Given the description of an element on the screen output the (x, y) to click on. 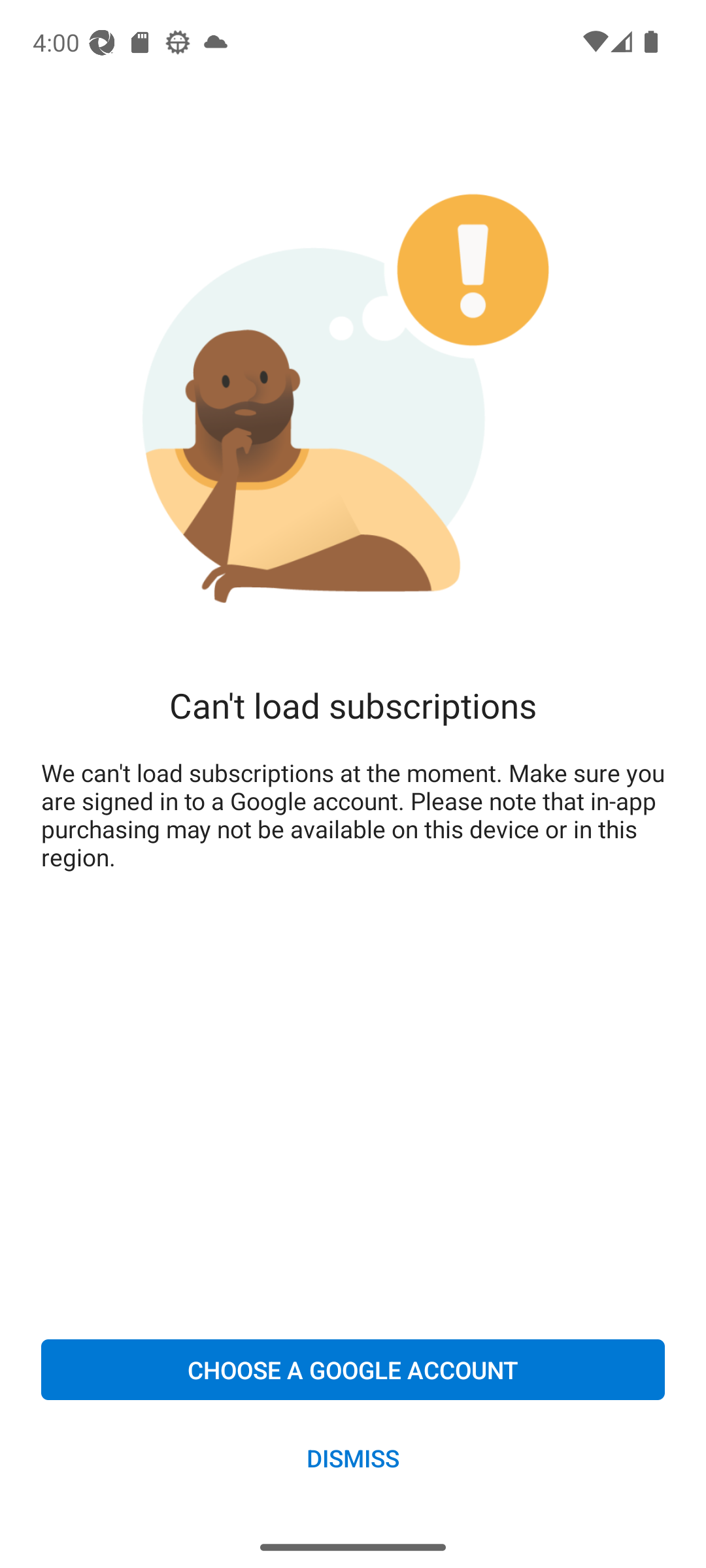
CHOOSE A GOOGLE ACCOUNT (352, 1369)
DISMISS (352, 1457)
